Given the description of an element on the screen output the (x, y) to click on. 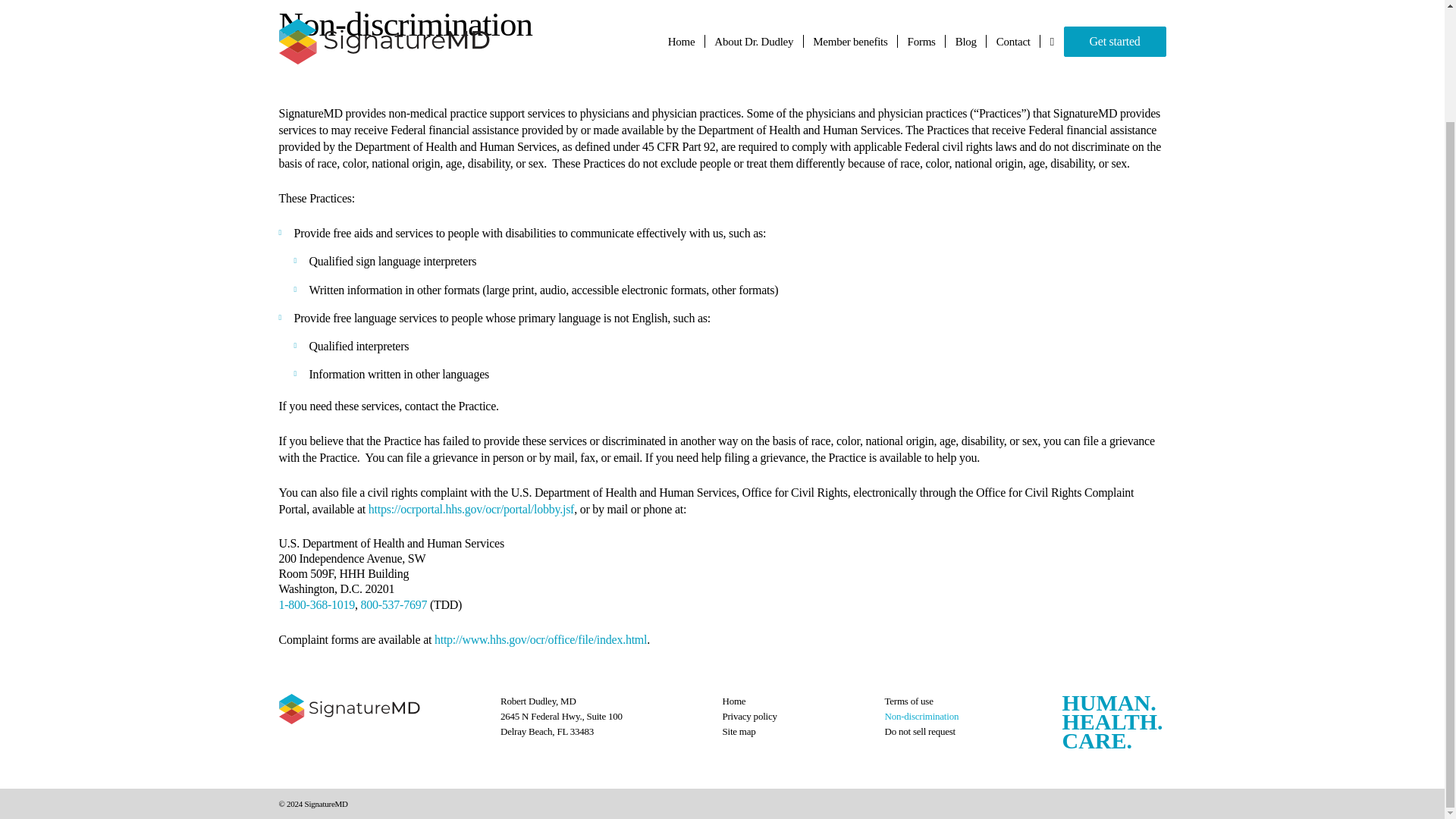
Site map (738, 731)
1-800-368-1019 (317, 604)
Privacy policy (749, 715)
Terms of use (908, 700)
800-537-7697 (392, 604)
Home (733, 700)
Home (382, 708)
